Given the description of an element on the screen output the (x, y) to click on. 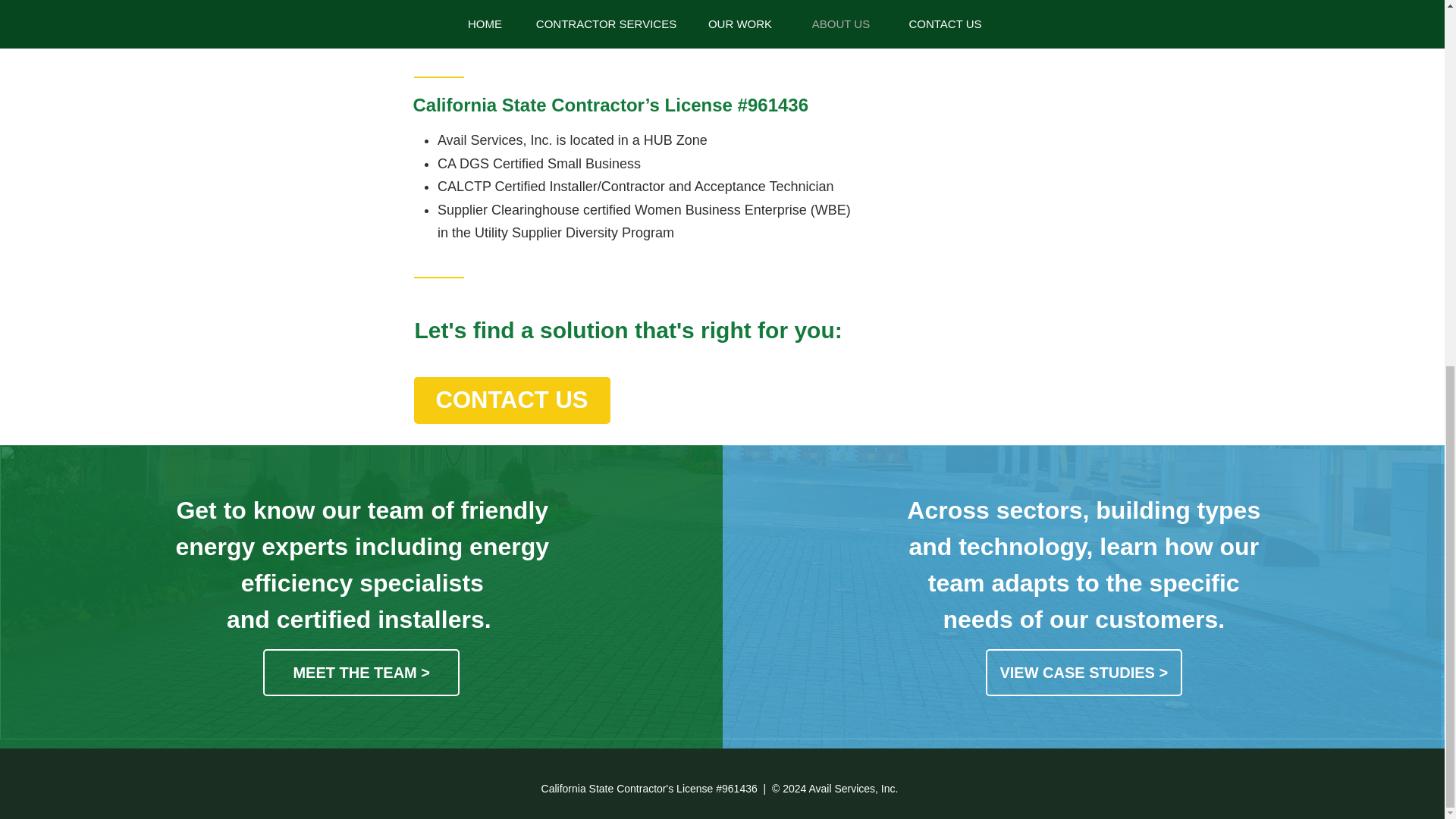
CONTACT US (511, 400)
